Given the description of an element on the screen output the (x, y) to click on. 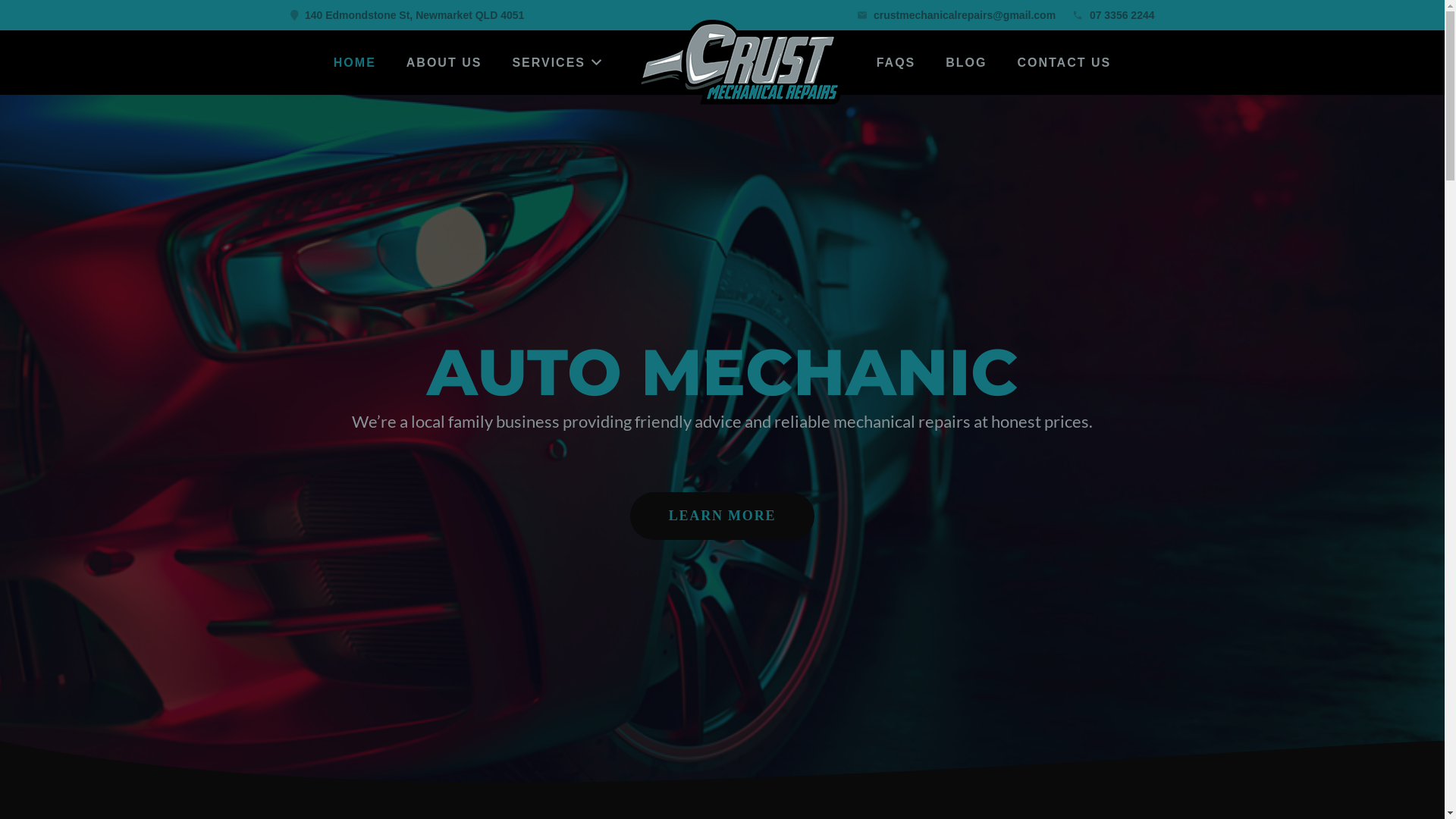
HOME Element type: text (354, 62)
07 3356 2244 Element type: text (1121, 15)
CONTACT US Element type: text (1063, 62)
BLOG Element type: text (965, 62)
SERVICES Element type: text (556, 62)
ABOUT US Element type: text (444, 62)
crustmechanicalrepairs@gmail.com Element type: text (964, 15)
LEARN MORE Element type: text (721, 515)
FAQS Element type: text (896, 62)
